Given the description of an element on the screen output the (x, y) to click on. 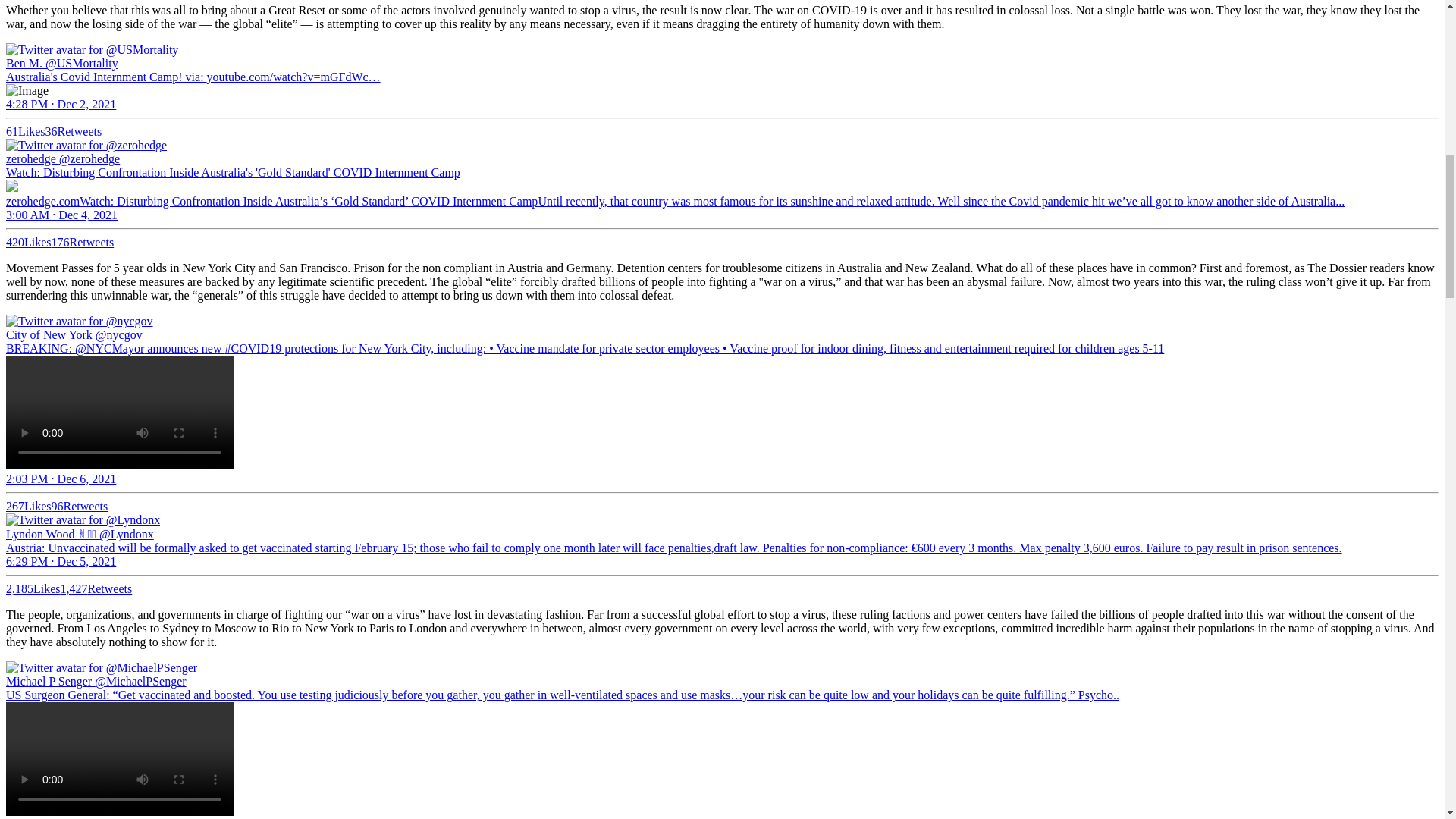
Australia's Covid Internment Camp! via: (105, 76)
